Given the description of an element on the screen output the (x, y) to click on. 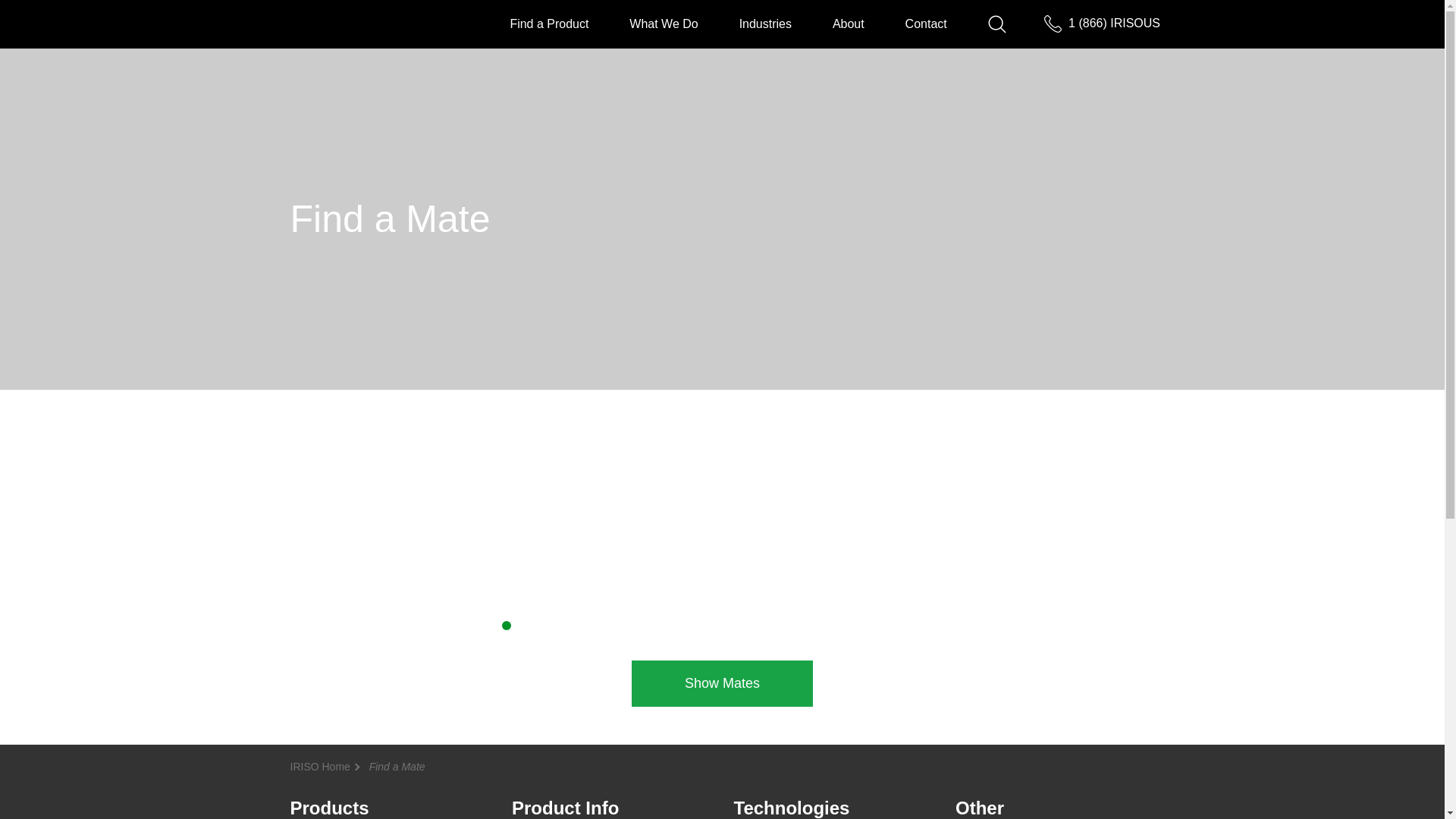
IRISO (338, 23)
Find a Product (548, 23)
What We Do (662, 23)
Show Mates (721, 683)
Industries (765, 23)
Contact (926, 23)
About (848, 23)
